Given the description of an element on the screen output the (x, y) to click on. 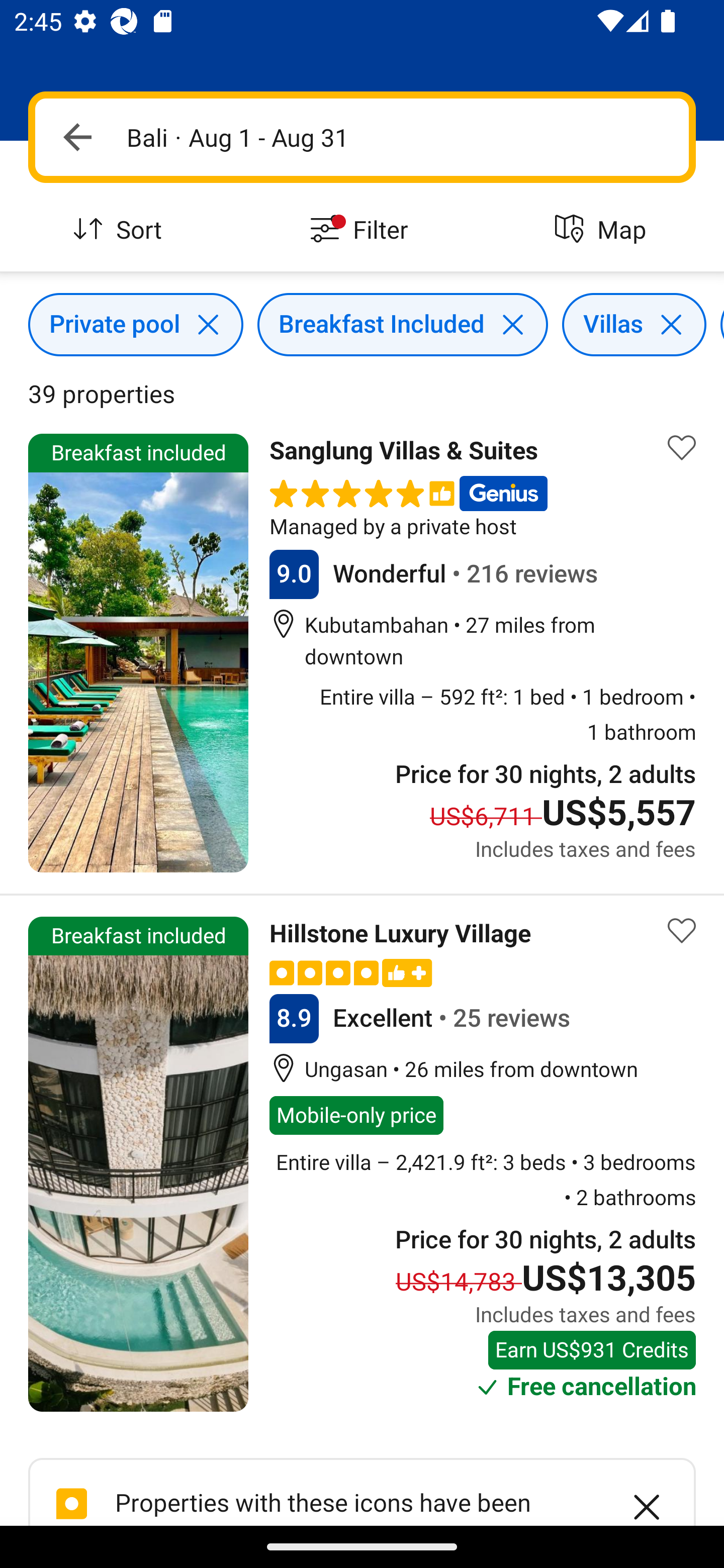
Navigate up Bali · Aug 1 - Aug 31 (362, 136)
Navigate up (77, 136)
Sort (120, 230)
Filter (361, 230)
Map (603, 230)
Save property to list (681, 447)
Save property to list (681, 931)
Clear (635, 1494)
